Given the description of an element on the screen output the (x, y) to click on. 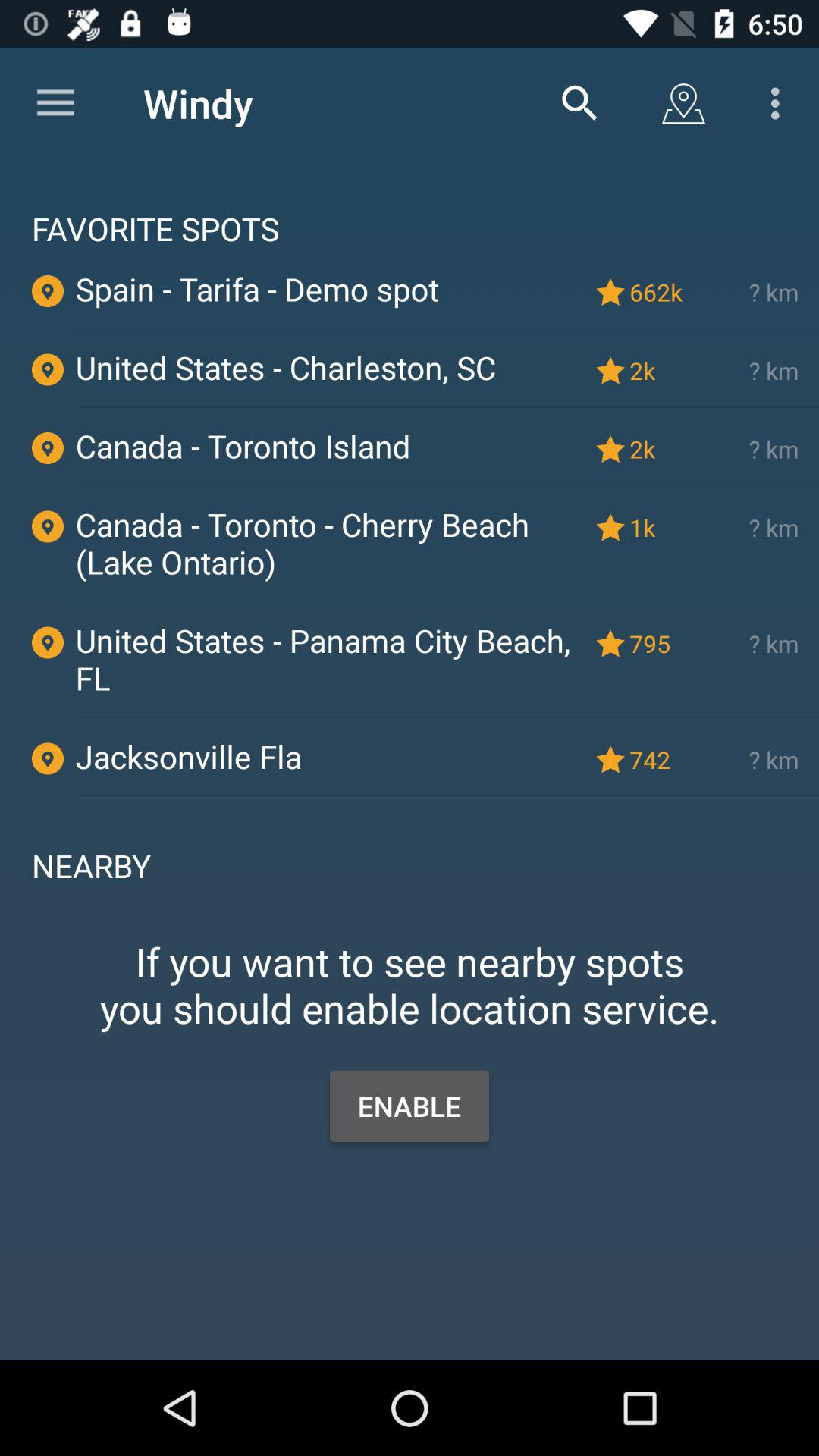
swipe until the spain tarifa demo item (327, 288)
